Given the description of an element on the screen output the (x, y) to click on. 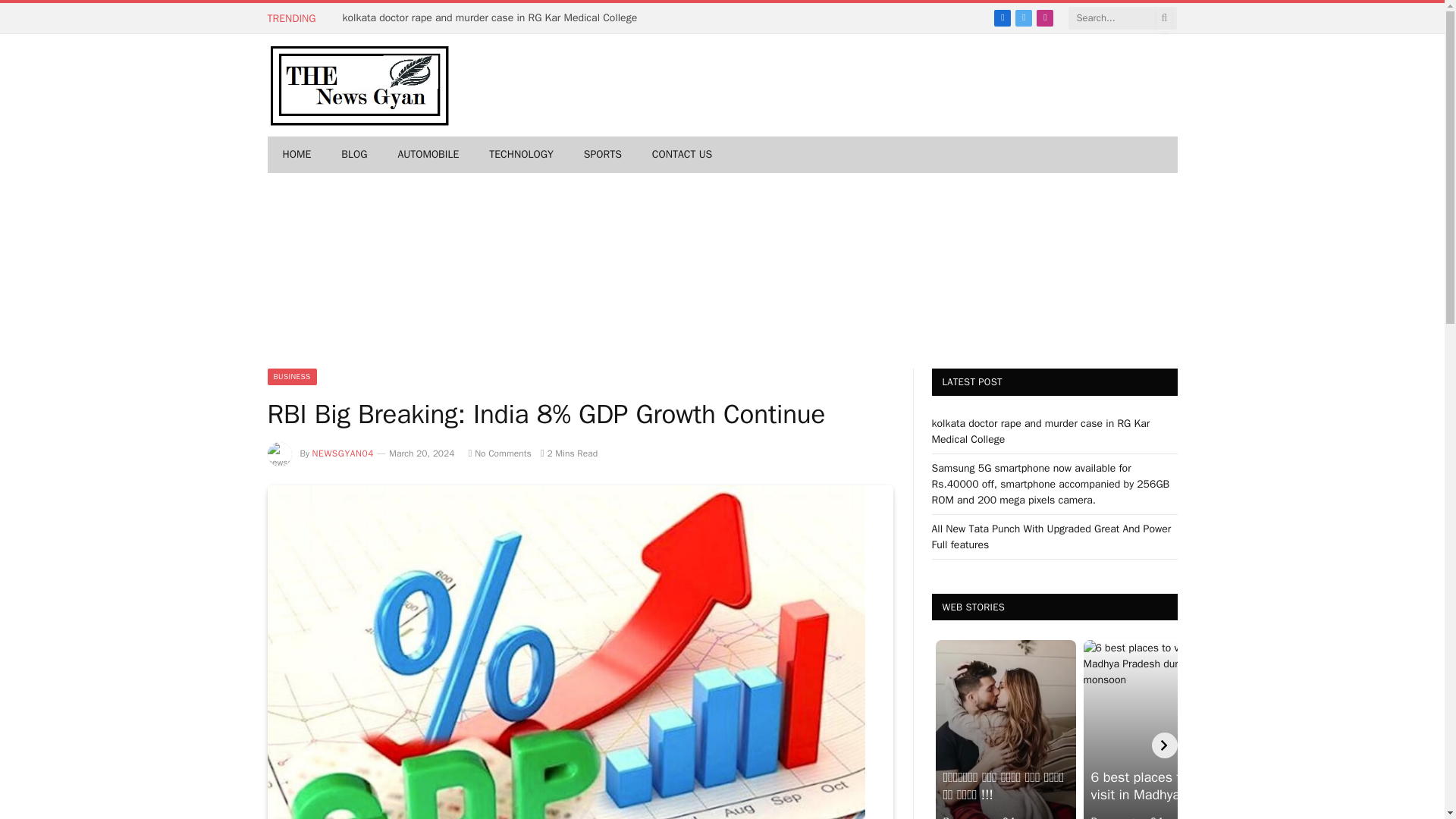
No Comments (499, 453)
TECHNOLOGY (520, 154)
Facebook (1002, 17)
SPORTS (603, 154)
CONTACT US (681, 154)
Instagram (1044, 17)
NEWSGYAN04 (343, 453)
AUTOMOBILE (427, 154)
